Given the description of an element on the screen output the (x, y) to click on. 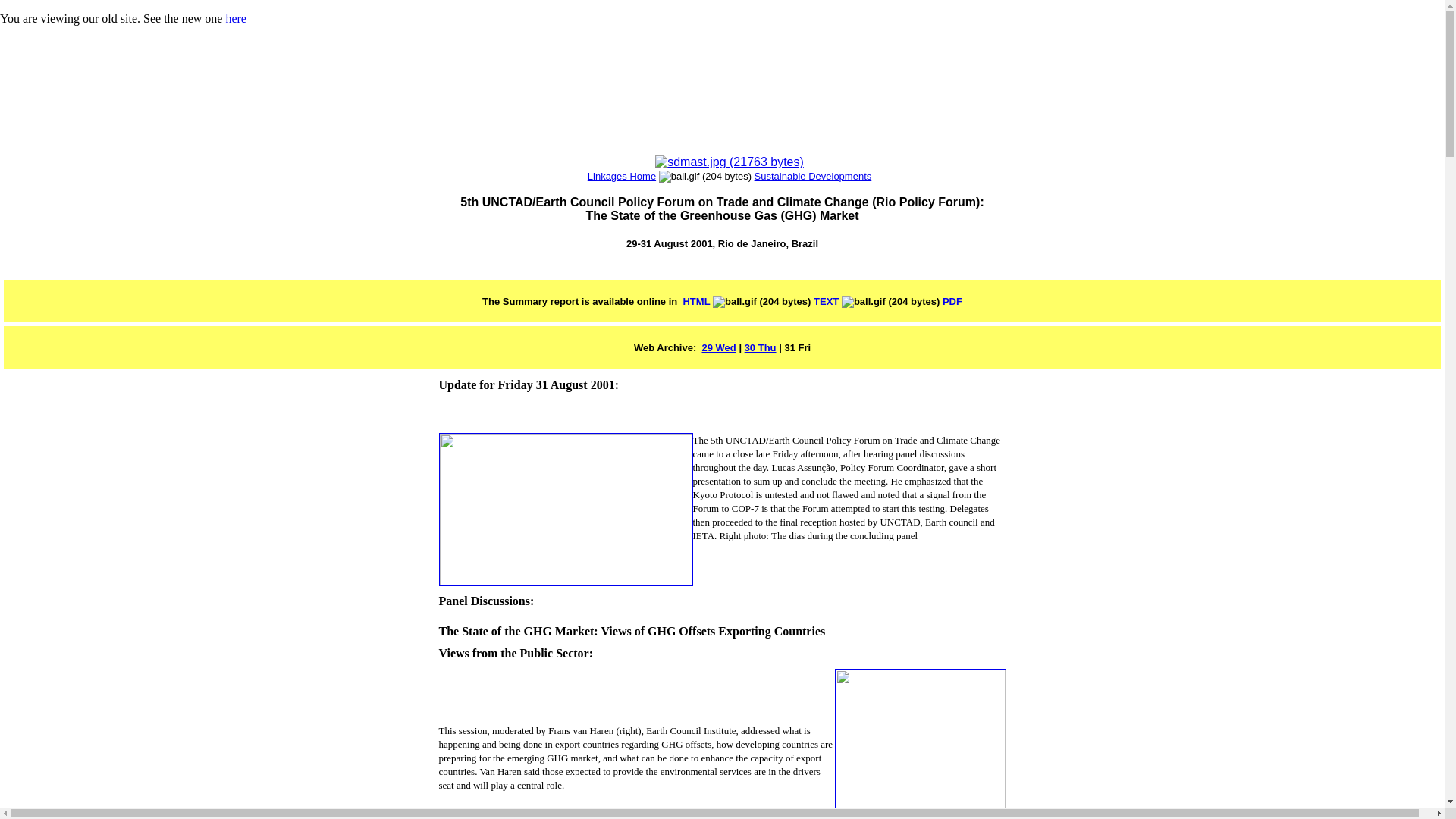
TEXT (825, 301)
HTML (696, 301)
Sustainable Developments (813, 175)
PDF (952, 301)
30 Thu (760, 347)
29 Wed (718, 347)
here (235, 18)
Linkages Home (622, 175)
